Given the description of an element on the screen output the (x, y) to click on. 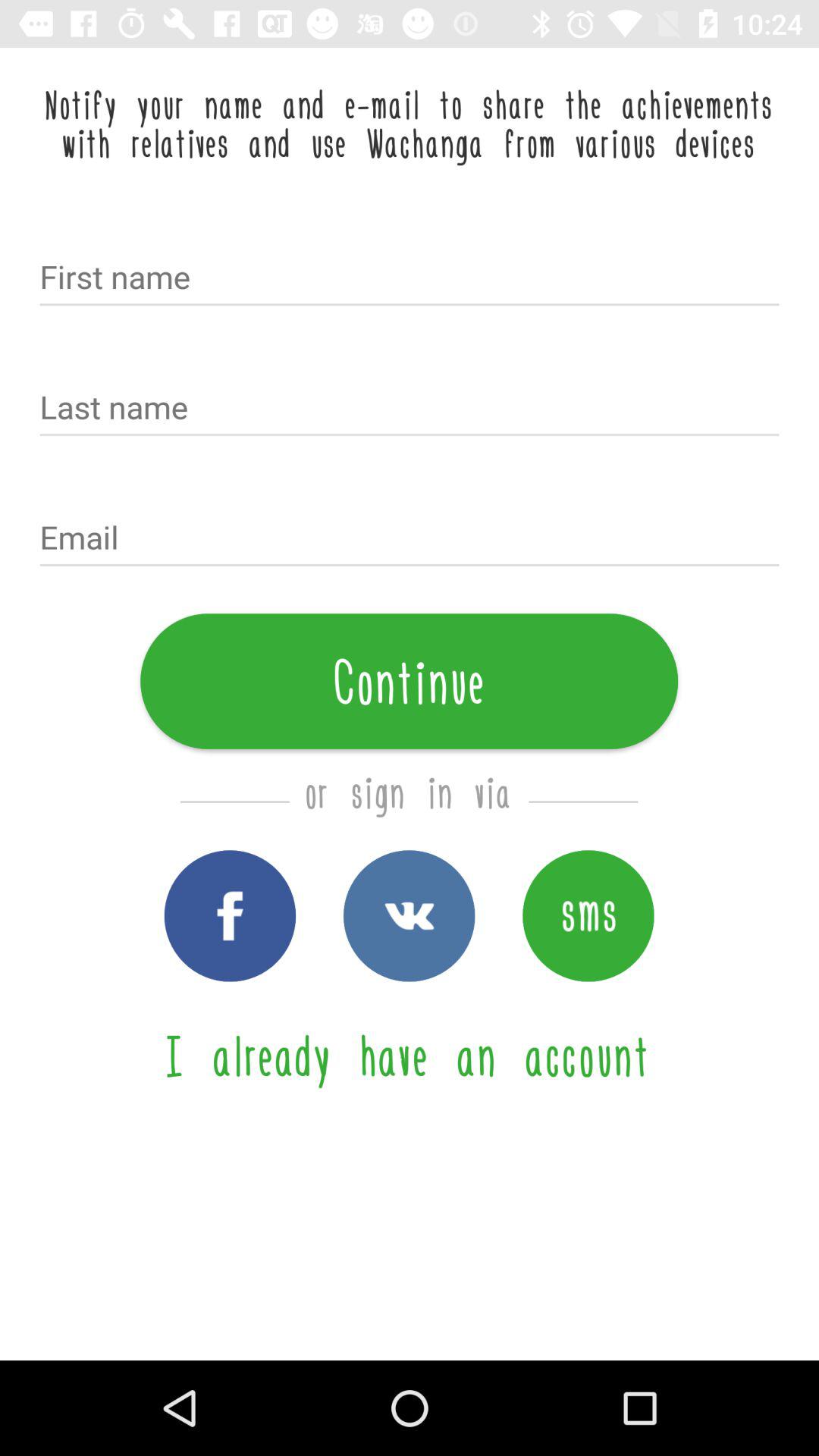
enter text into field (409, 278)
